Given the description of an element on the screen output the (x, y) to click on. 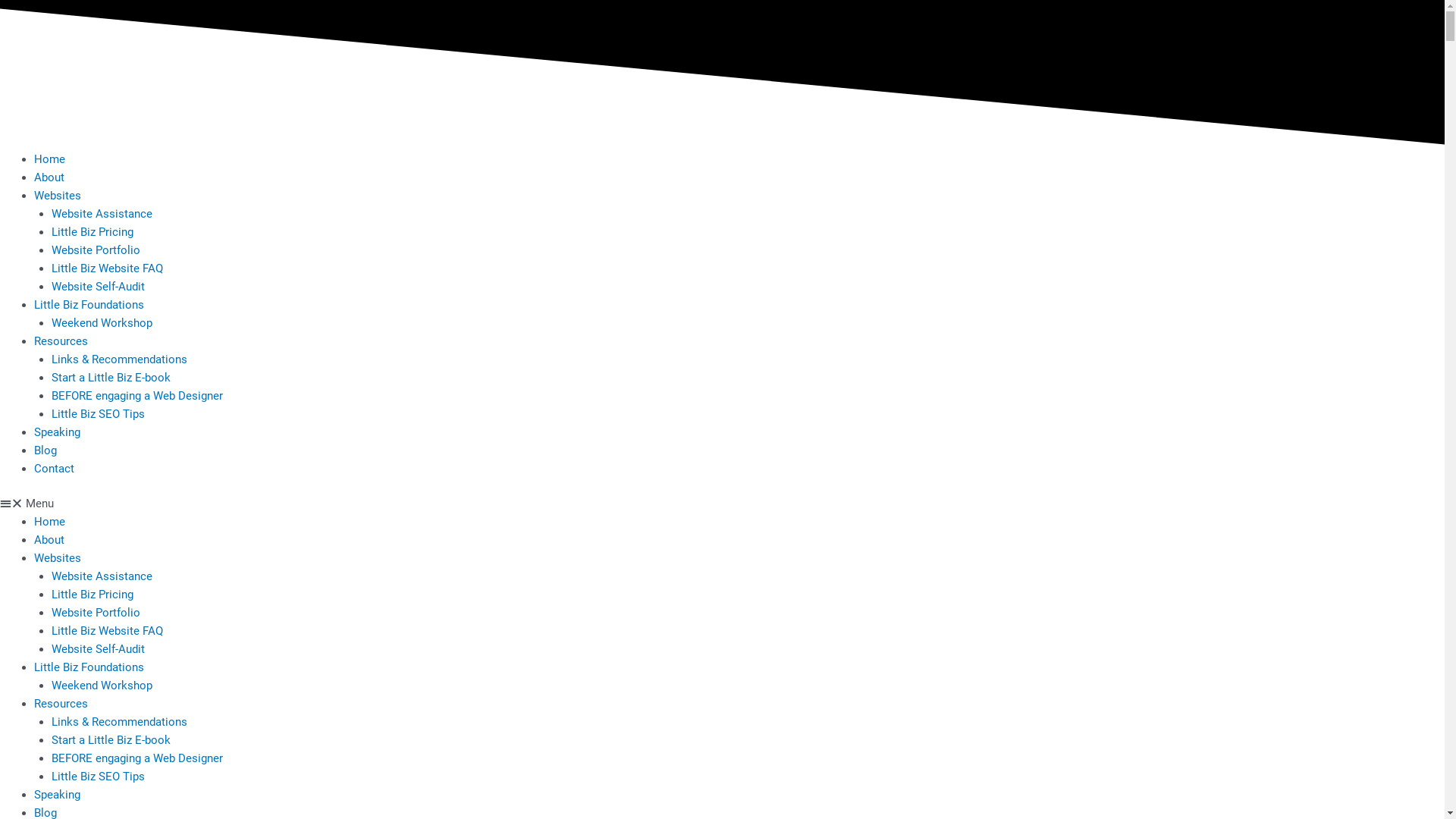
Website Portfolio Element type: text (95, 249)
Little Biz Website FAQ Element type: text (107, 630)
BEFORE engaging a Web Designer Element type: text (136, 394)
Little Biz SEO Tips Element type: text (97, 413)
About Element type: text (49, 539)
Website Assistance Element type: text (101, 576)
Little Biz Pricing Element type: text (92, 231)
Speaking Element type: text (57, 431)
Website Self-Audit Element type: text (97, 648)
Resources Element type: text (60, 703)
Little Biz Foundations Element type: text (89, 303)
About Element type: text (49, 176)
Website Portfolio Element type: text (95, 612)
Little Biz Pricing Element type: text (92, 594)
Speaking Element type: text (57, 794)
Resources Element type: text (60, 340)
Website Self-Audit Element type: text (97, 285)
Weekend Workshop Element type: text (101, 685)
Websites Element type: text (57, 557)
Home Element type: text (49, 521)
Little Biz Foundations Element type: text (89, 667)
Blog Element type: text (45, 449)
Contact Element type: text (54, 467)
Start a Little Biz E-book Element type: text (110, 376)
Website Assistance Element type: text (101, 212)
BEFORE engaging a Web Designer Element type: text (136, 758)
Weekend Workshop Element type: text (101, 322)
Links & Recommendations Element type: text (119, 358)
Home Element type: text (49, 158)
Start a Little Biz E-book Element type: text (110, 739)
Websites Element type: text (57, 194)
Little Biz SEO Tips Element type: text (97, 776)
Little Biz Website FAQ Element type: text (107, 267)
Links & Recommendations Element type: text (119, 721)
